Given the description of an element on the screen output the (x, y) to click on. 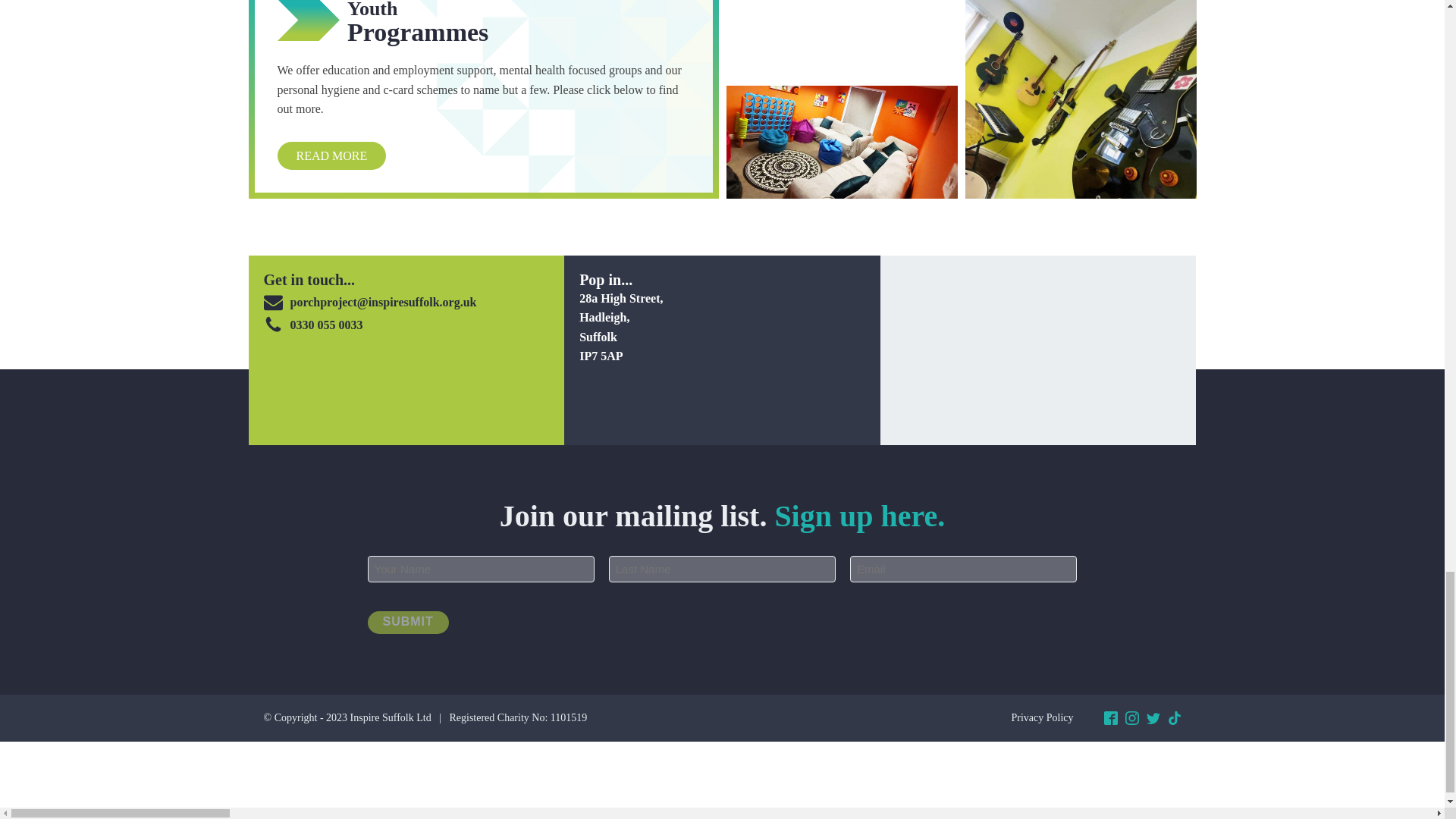
Submit (407, 621)
